Given the description of an element on the screen output the (x, y) to click on. 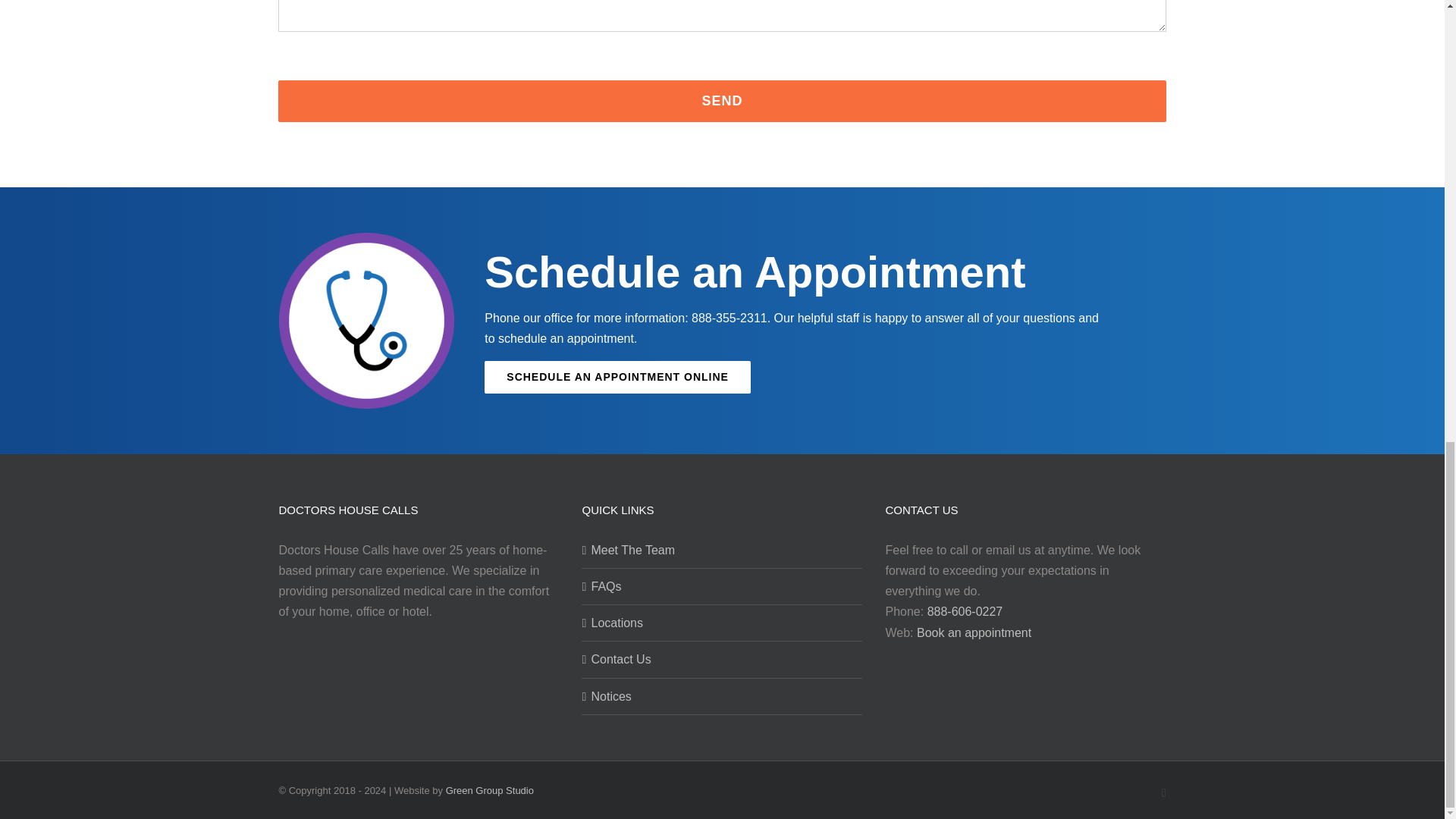
Book an appointment (973, 632)
Locations (722, 622)
SCHEDULE AN APPOINTMENT ONLINE (617, 377)
Facebook (1163, 793)
FAQs (722, 586)
Meet The Team (722, 549)
888-606-0227 (965, 611)
Contact Us (722, 659)
SEND (722, 101)
Notices (722, 696)
